Given the description of an element on the screen output the (x, y) to click on. 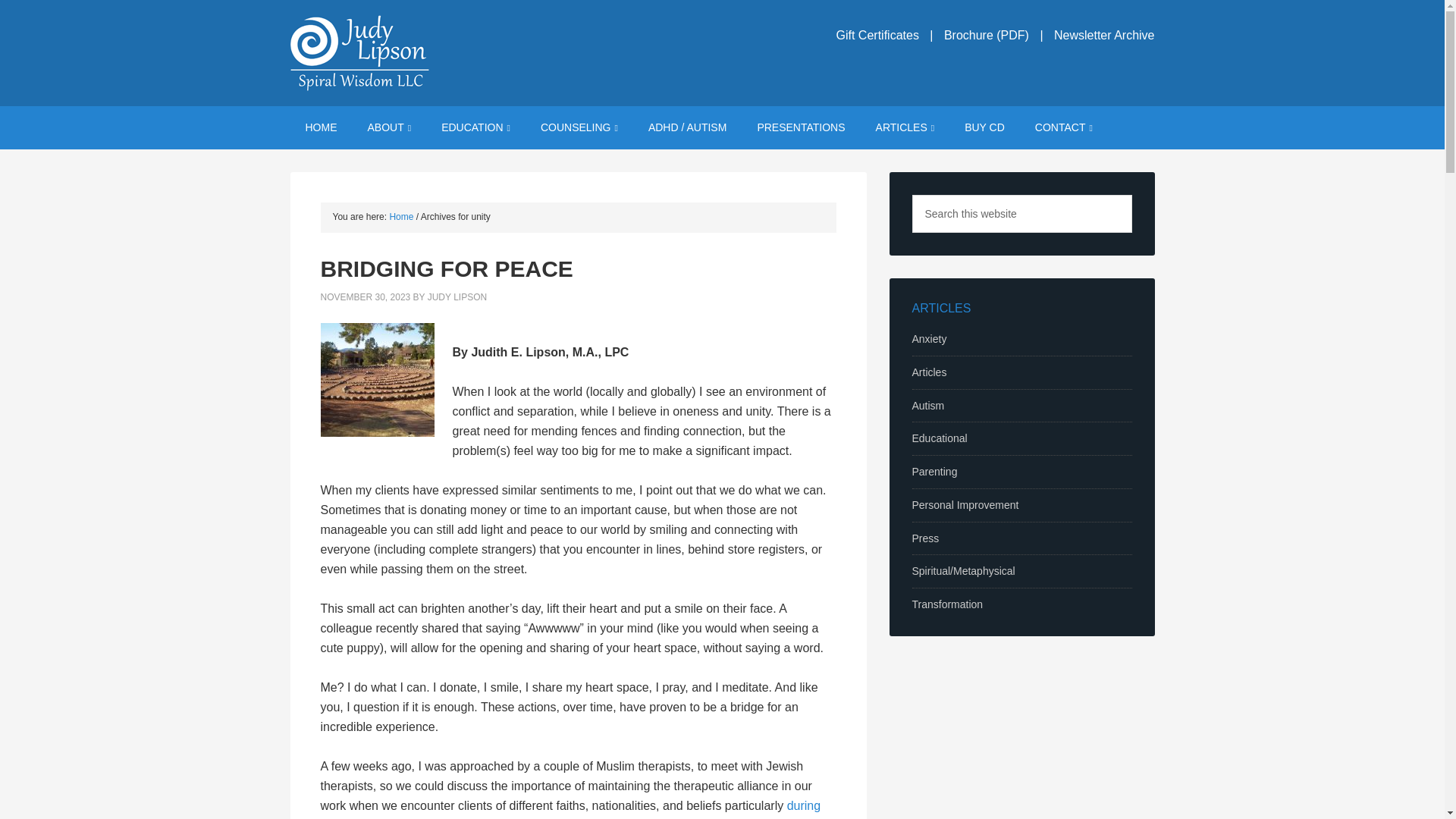
CONTACT (1064, 127)
EDUCATION (475, 127)
Gift Certificates (876, 34)
BRIDGING FOR PEACE (446, 268)
ABOUT (389, 127)
JUDY LIPSON (457, 296)
PRESENTATIONS (800, 127)
ARTICLES (905, 127)
COUNSELING (579, 127)
